Given the description of an element on the screen output the (x, y) to click on. 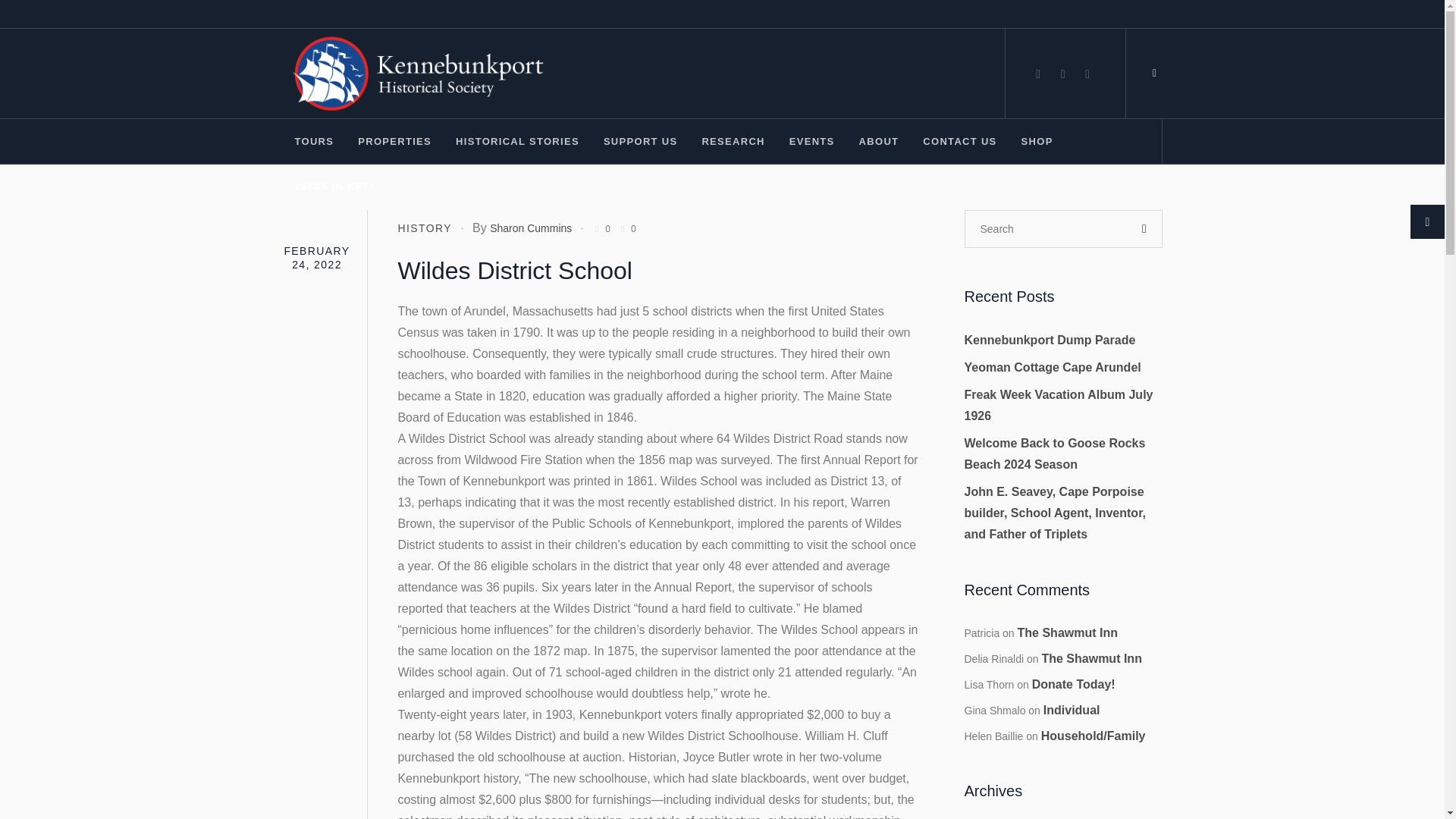
Posts by Sharon Cummins (530, 227)
Instagram (1062, 74)
TOURS (313, 140)
February 24, 2022 (316, 257)
RESEARCH (732, 140)
EVENTS (811, 140)
PROPERTIES (394, 140)
SUPPORT US (639, 140)
Twitter (1087, 74)
HISTORICAL STORIES (517, 140)
